Given the description of an element on the screen output the (x, y) to click on. 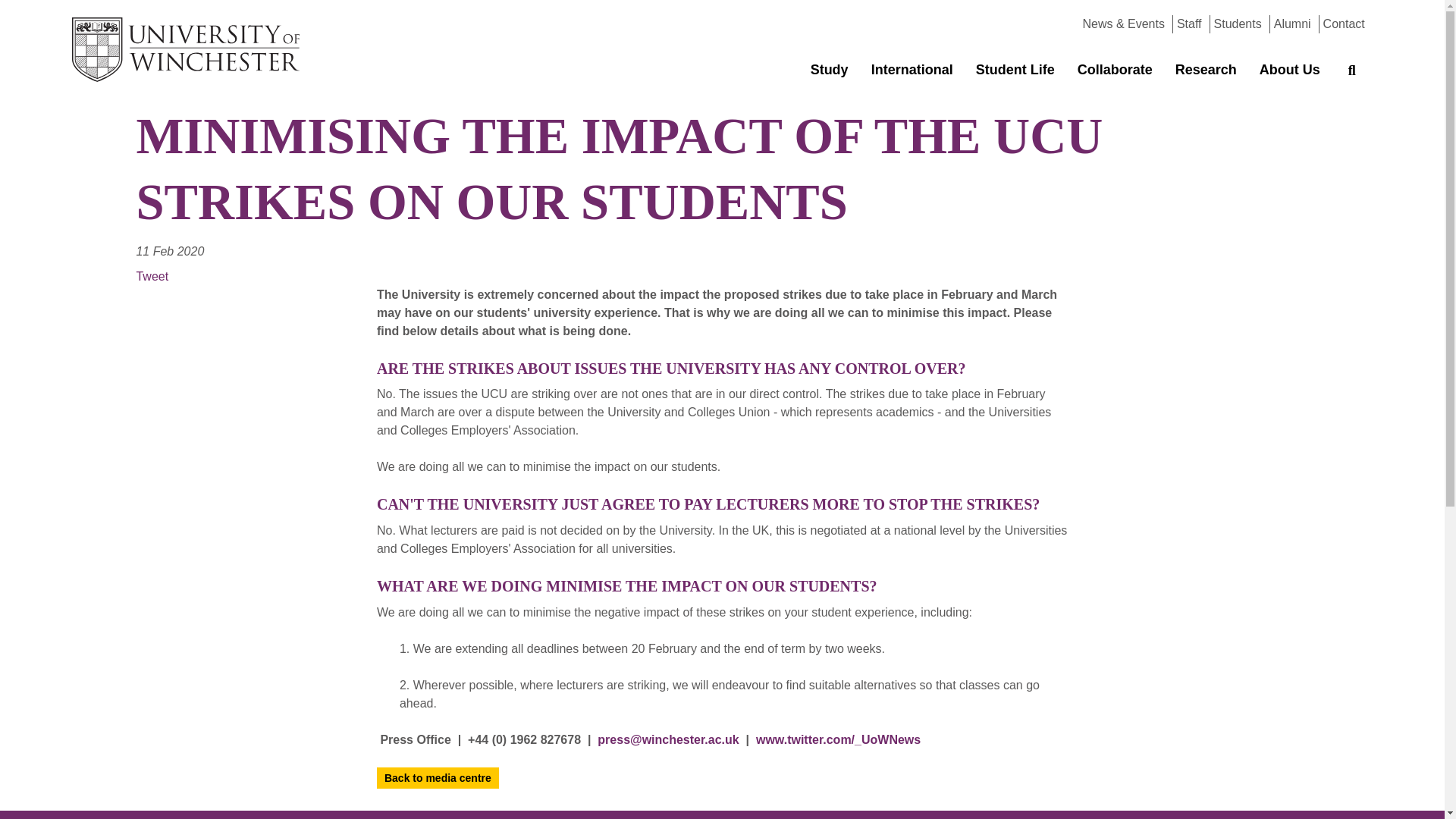
Study (829, 69)
International (911, 69)
Contact (1344, 23)
Students (1238, 23)
Alumni (1292, 23)
Staff (1189, 23)
